Given the description of an element on the screen output the (x, y) to click on. 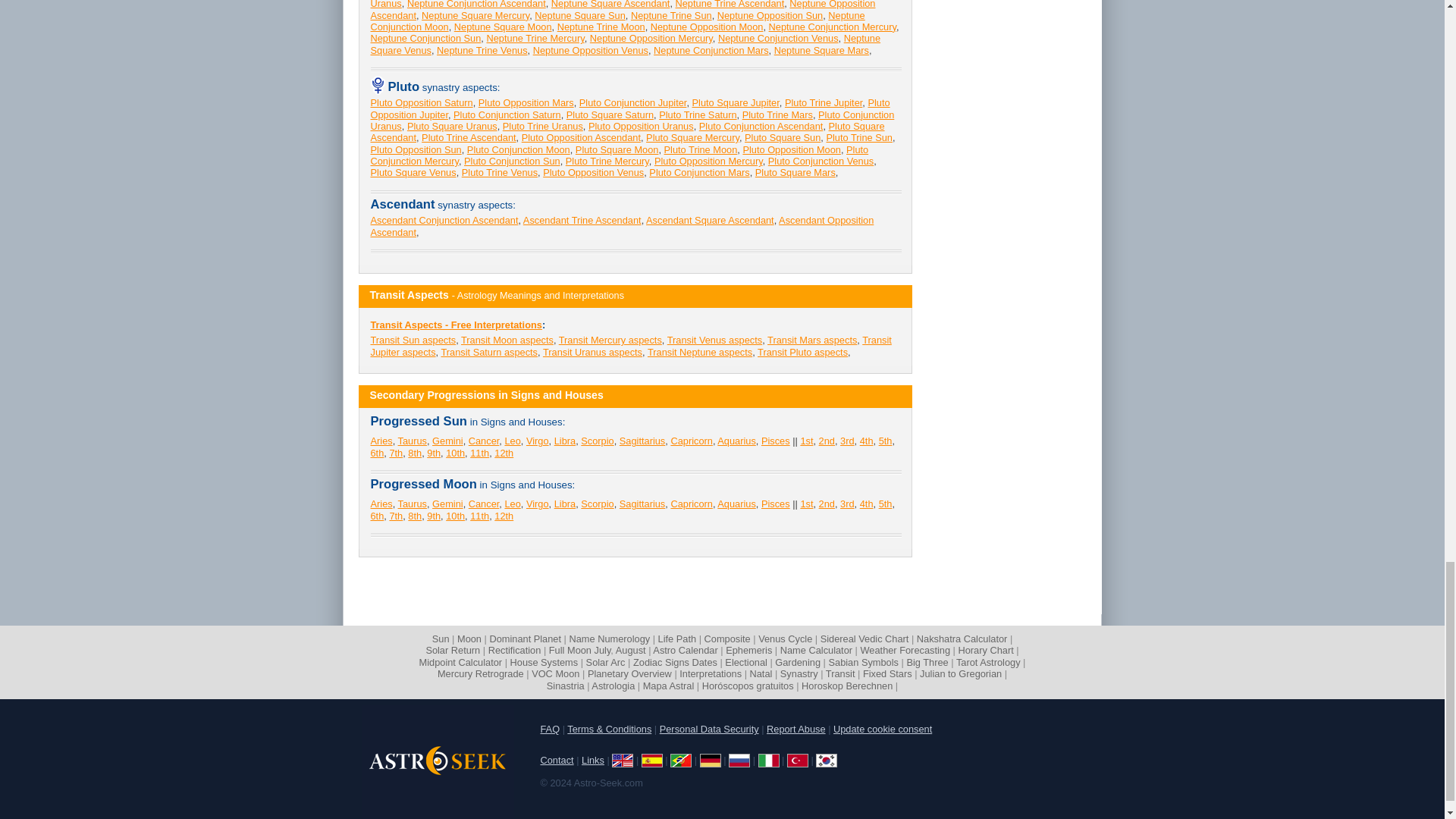
English (622, 760)
Deutsch (710, 760)
Italiano (768, 760)
